Given the description of an element on the screen output the (x, y) to click on. 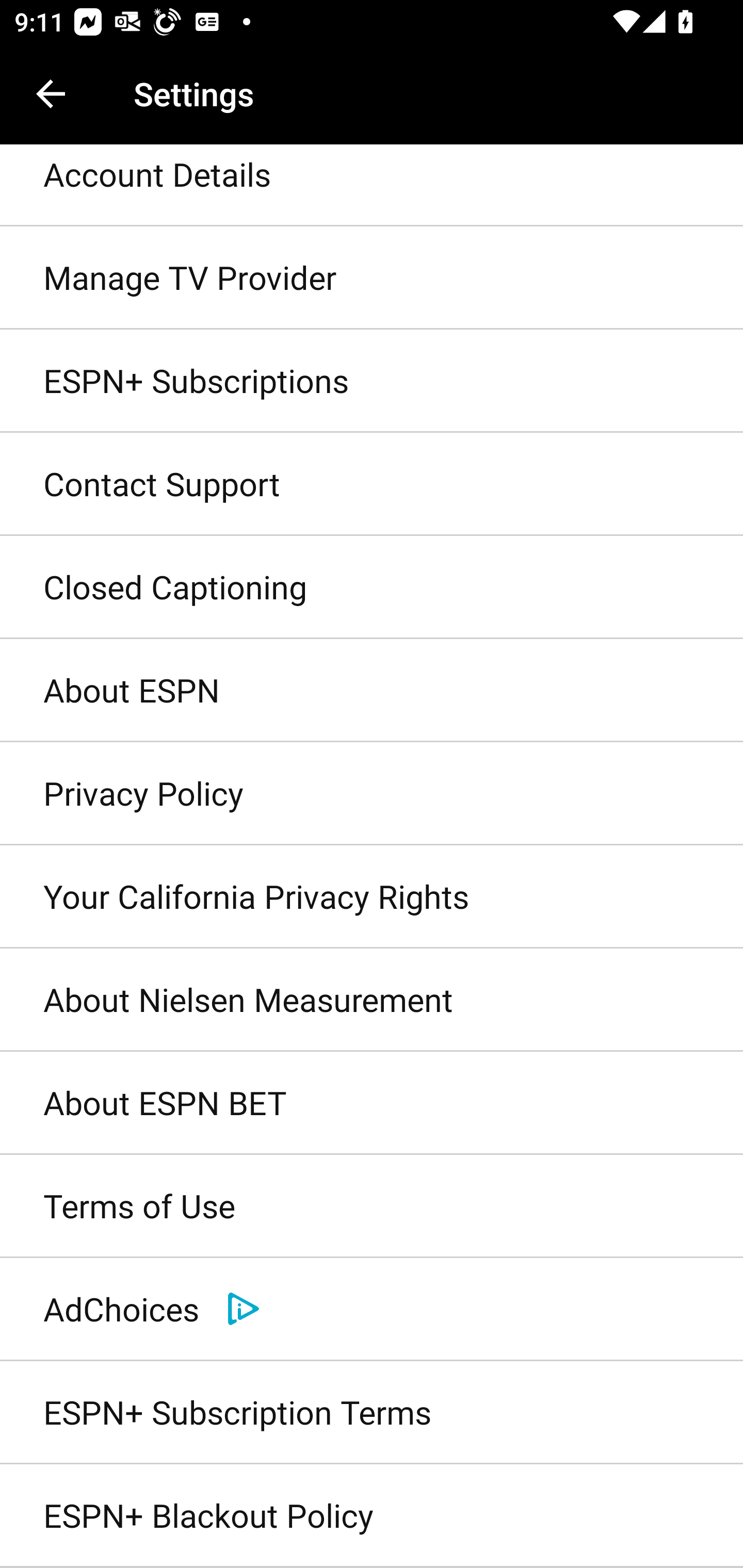
Navigate up (50, 93)
Account Details (371, 185)
Manage TV Provider (371, 277)
ESPN+ Subscriptions (371, 380)
Contact Support (371, 484)
Closed Captioning (371, 587)
About ESPN (371, 691)
Privacy Policy (371, 793)
Your California Privacy Rights (371, 896)
About Nielsen Measurement (371, 1000)
About ESPN BET (371, 1103)
Terms of Use (371, 1207)
AdChoices (371, 1309)
ESPN+ Subscription Terms (371, 1412)
ESPN+ Blackout Policy (371, 1516)
